Given the description of an element on the screen output the (x, y) to click on. 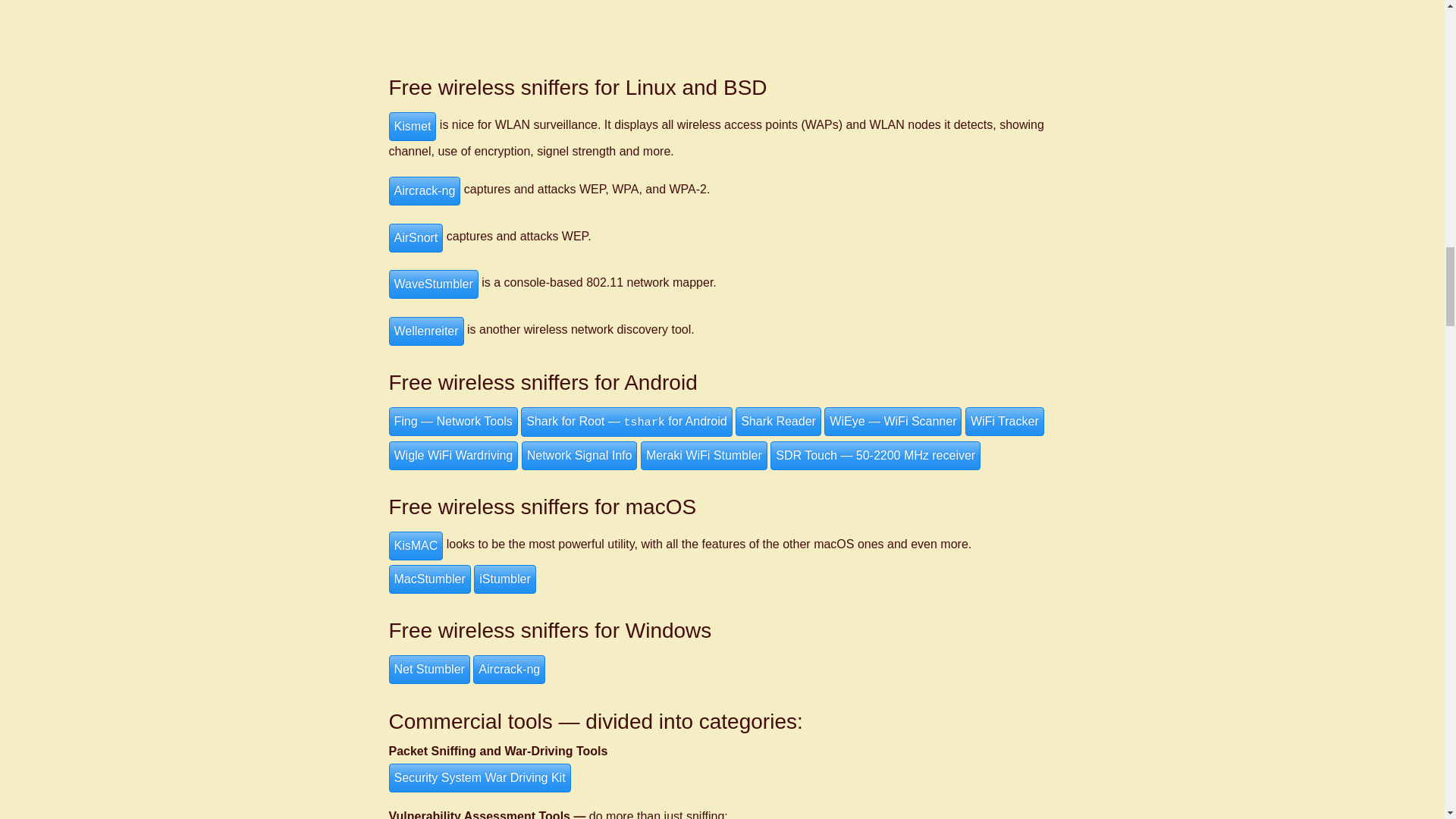
Kismet (411, 126)
